Given the description of an element on the screen output the (x, y) to click on. 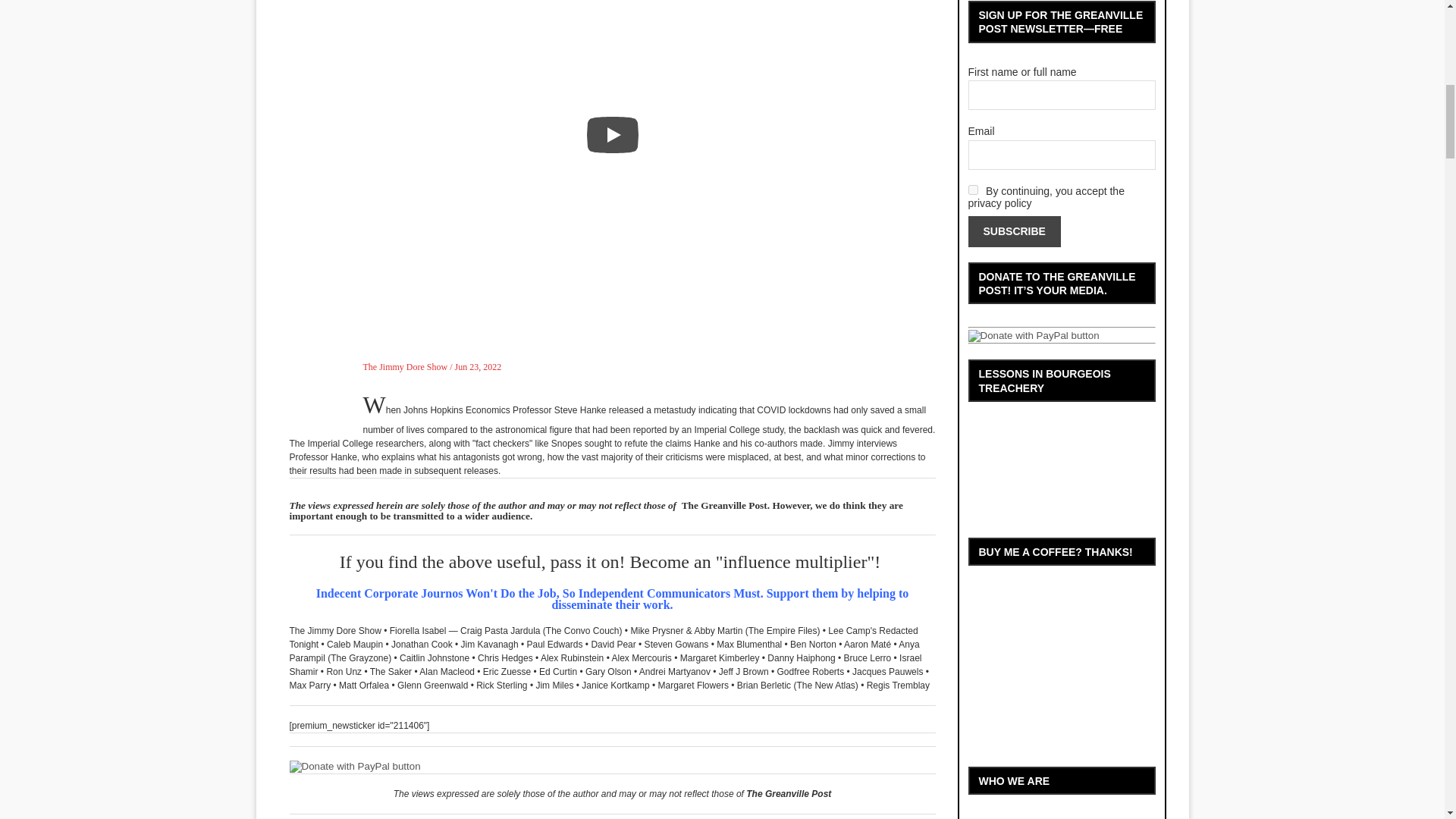
on (972, 189)
Subscribe (1013, 231)
PayPal - The safer, easier way to pay online! (354, 766)
